Given the description of an element on the screen output the (x, y) to click on. 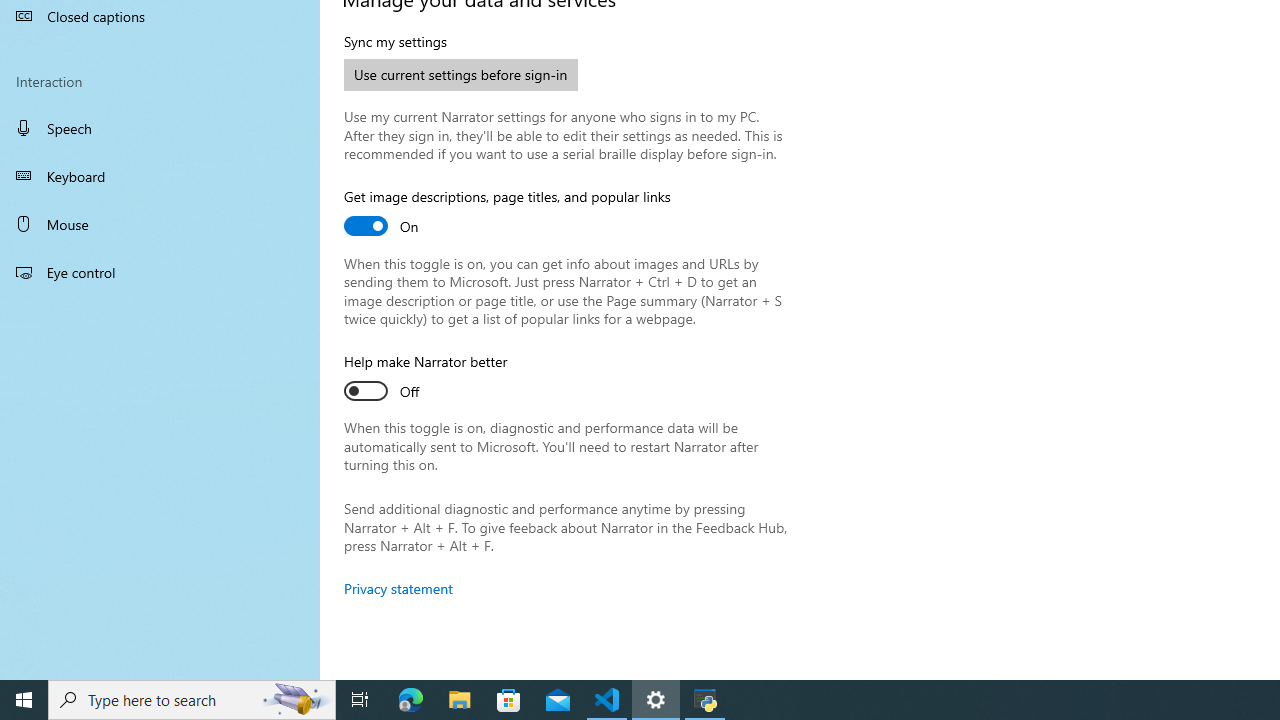
Privacy statement (398, 588)
Microsoft Store (509, 699)
